Given the description of an element on the screen output the (x, y) to click on. 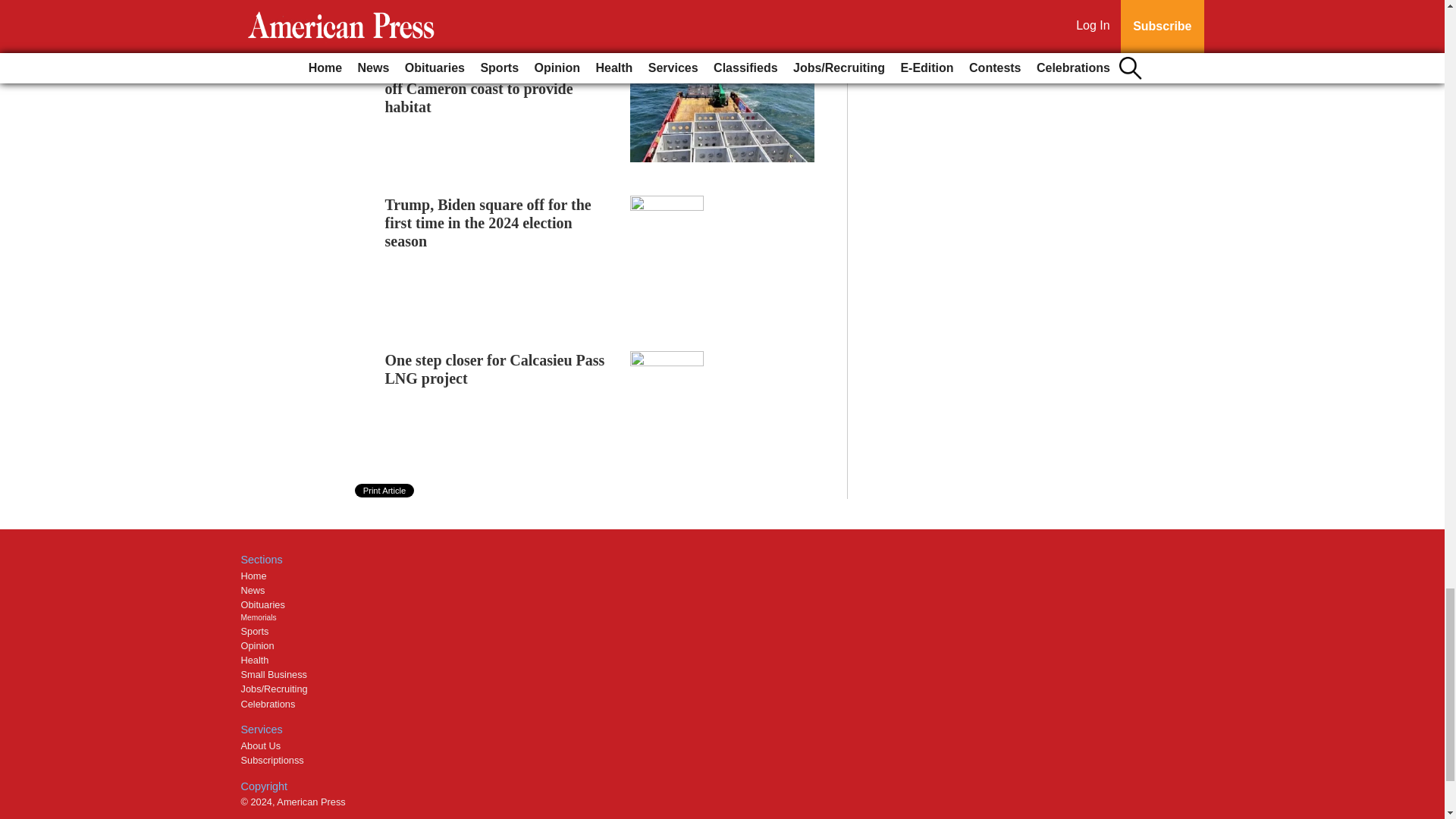
One step closer for Calcasieu Pass LNG project (495, 369)
Print Article (384, 490)
One step closer for Calcasieu Pass LNG project (495, 369)
